Given the description of an element on the screen output the (x, y) to click on. 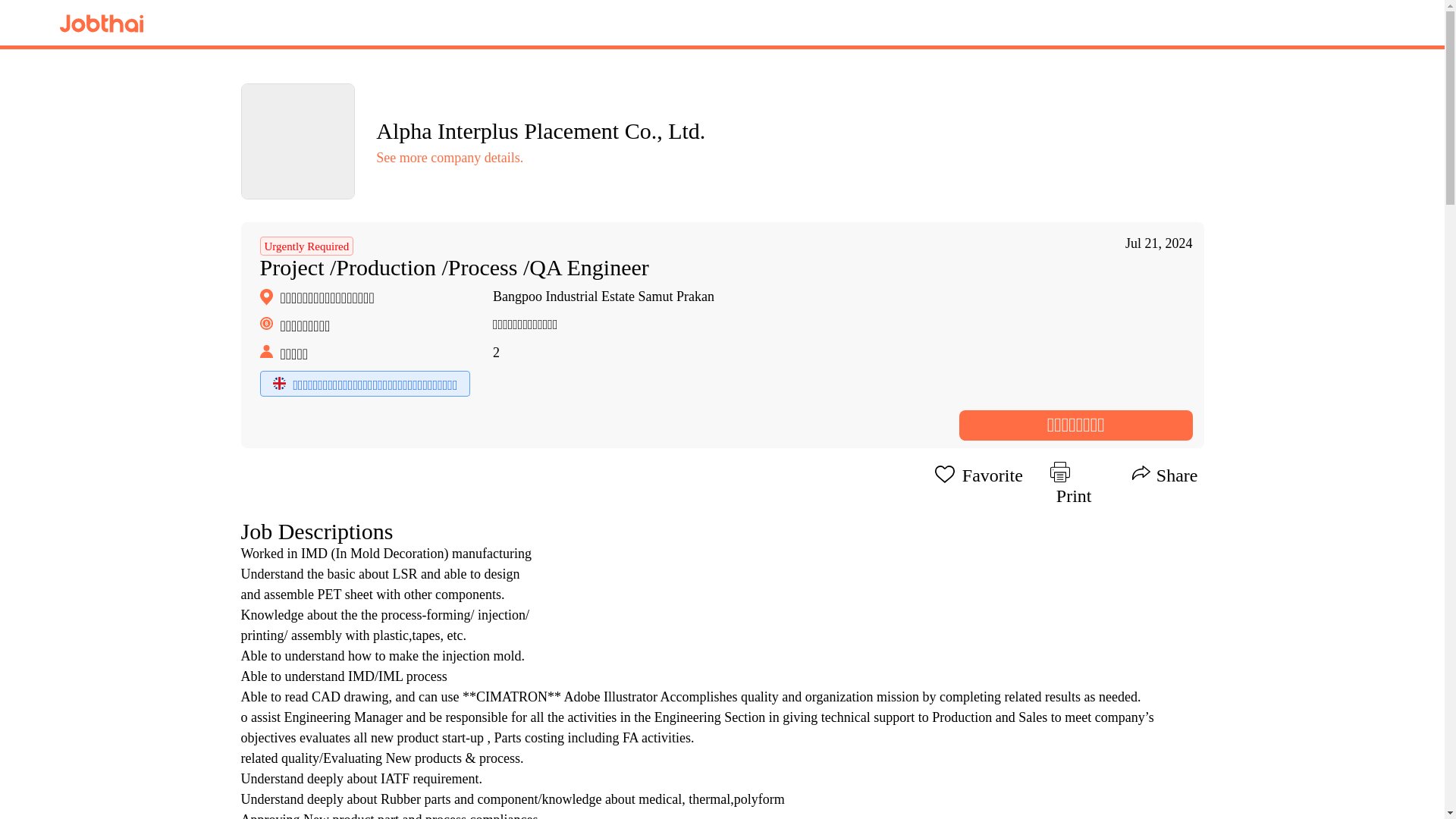
Favorite (978, 473)
Print (1077, 473)
Share (1165, 473)
See more company details. (448, 158)
